Given the description of an element on the screen output the (x, y) to click on. 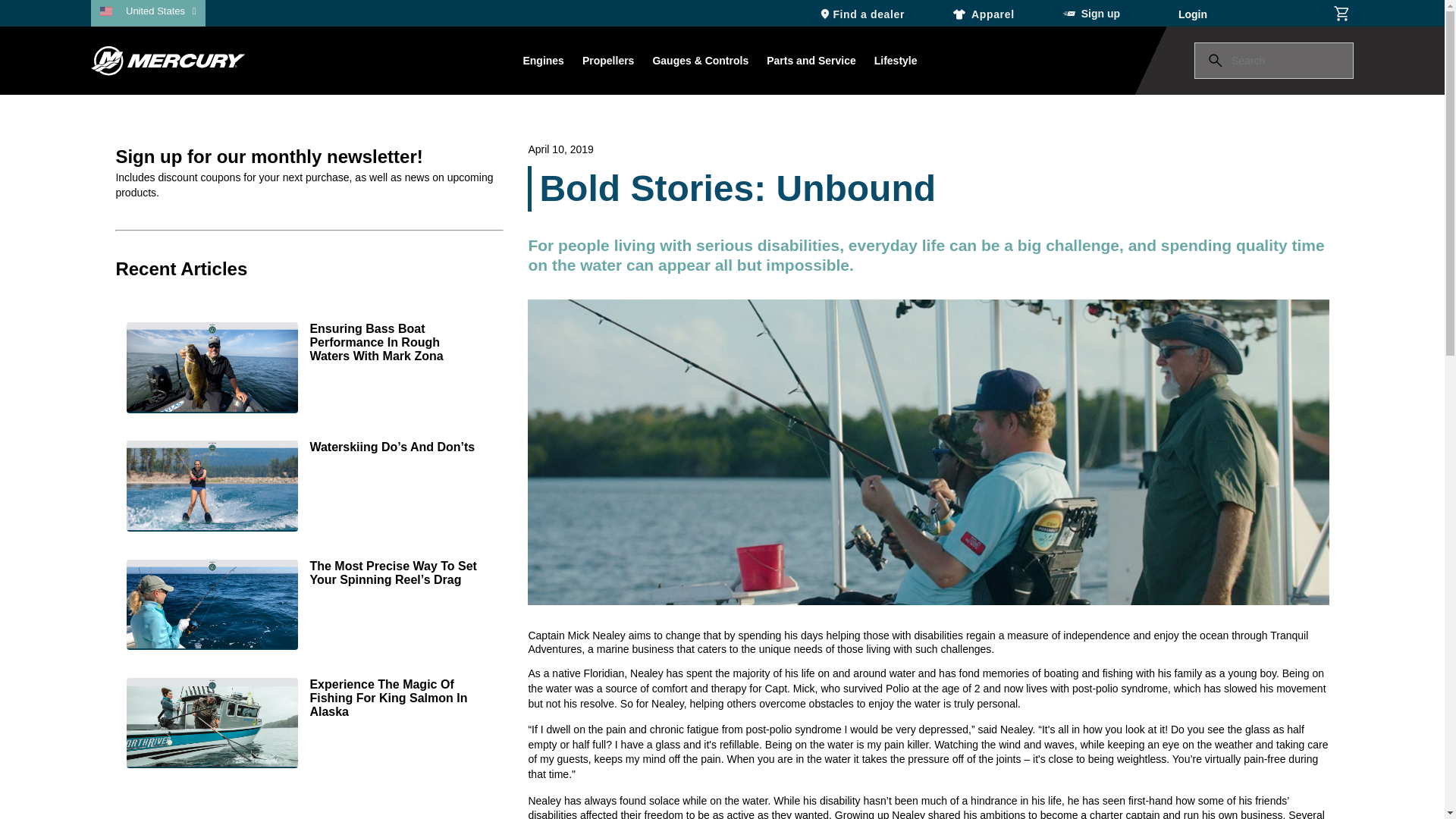
Apparel (983, 13)
Find a dealer (861, 13)
United States (160, 10)
Experience the Magic of Fishing for King Salmon in Alaska (309, 725)
United States (160, 10)
